Given the description of an element on the screen output the (x, y) to click on. 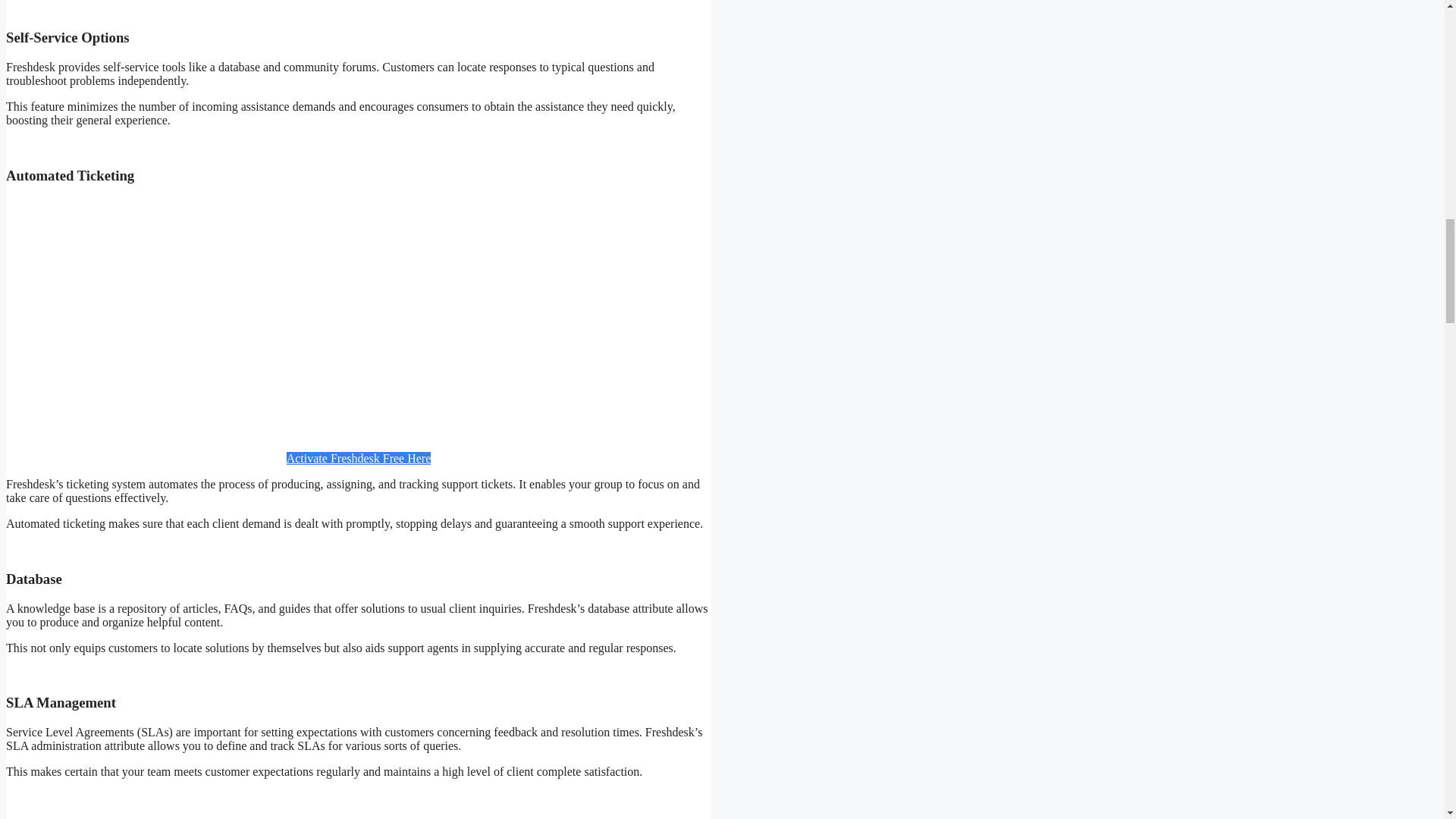
Activate Freshdesk Free Here (358, 458)
YouTube video player (358, 317)
